Given the description of an element on the screen output the (x, y) to click on. 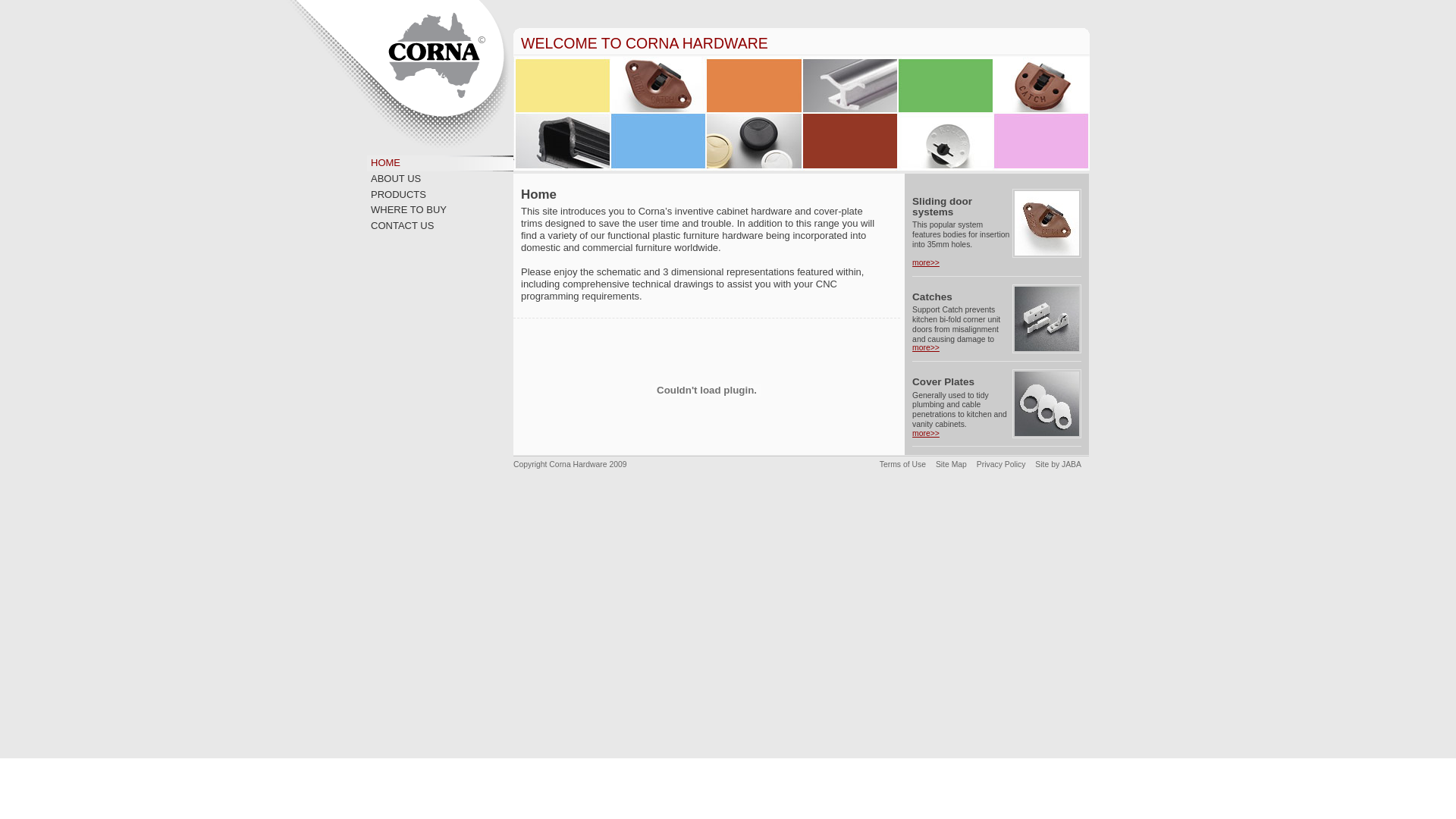
WHERE TO BUY Element type: text (408, 209)
Privacy Policy Element type: text (1001, 464)
Terms of Use Element type: text (902, 464)
ABOUT US Element type: text (395, 178)
CONTACT US Element type: text (402, 225)
PRODUCTS Element type: text (398, 194)
HOME Element type: text (385, 162)
Site Map Element type: text (950, 464)
more>> Element type: text (925, 262)
Site by JABA Element type: text (1058, 464)
more>> Element type: text (925, 347)
more>> Element type: text (925, 433)
